Given the description of an element on the screen output the (x, y) to click on. 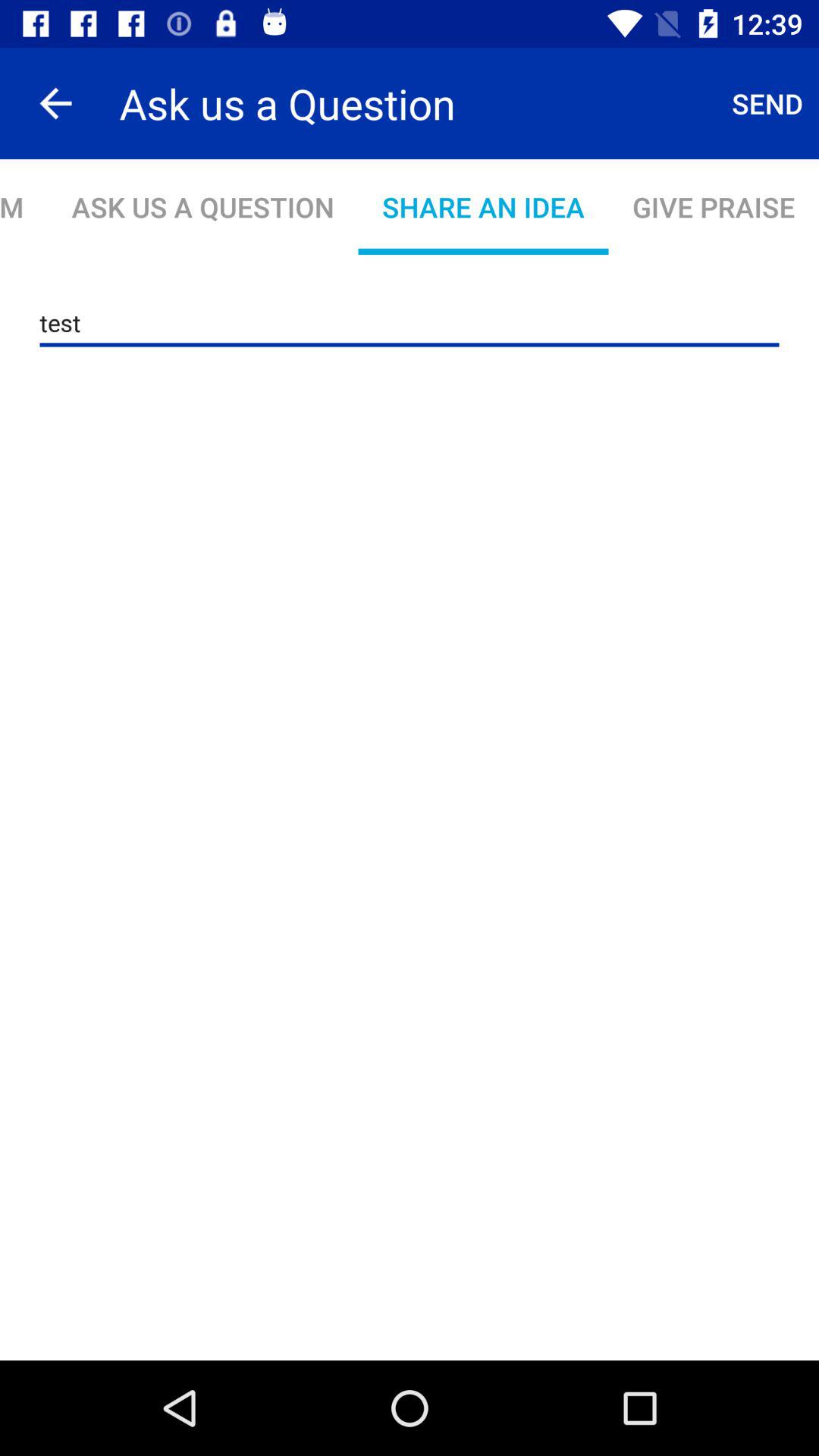
tap item next to ask us a icon (767, 103)
